Given the description of an element on the screen output the (x, y) to click on. 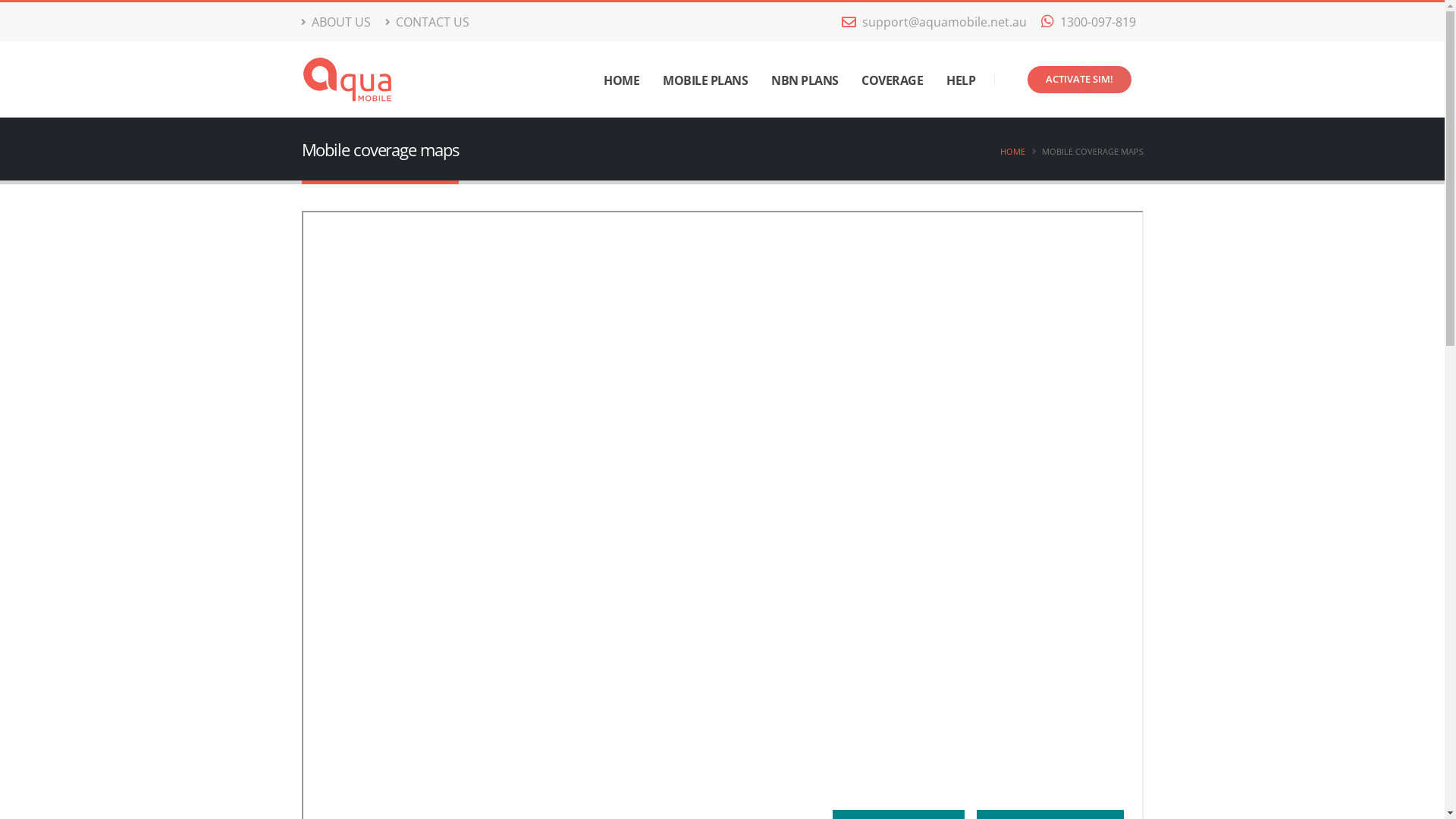
NBN PLANS Element type: text (804, 80)
MOBILE PLANS Element type: text (705, 80)
COVERAGE Element type: text (892, 80)
support@aquamobile.net.au Element type: text (933, 21)
HOME Element type: text (621, 80)
CONTACT US Element type: text (426, 21)
HELP Element type: text (960, 80)
ACTIVATE SIM! Element type: text (1078, 79)
ABOUT US Element type: text (339, 21)
1300-097-819 Element type: text (1088, 21)
HOME Element type: text (1011, 150)
